Given the description of an element on the screen output the (x, y) to click on. 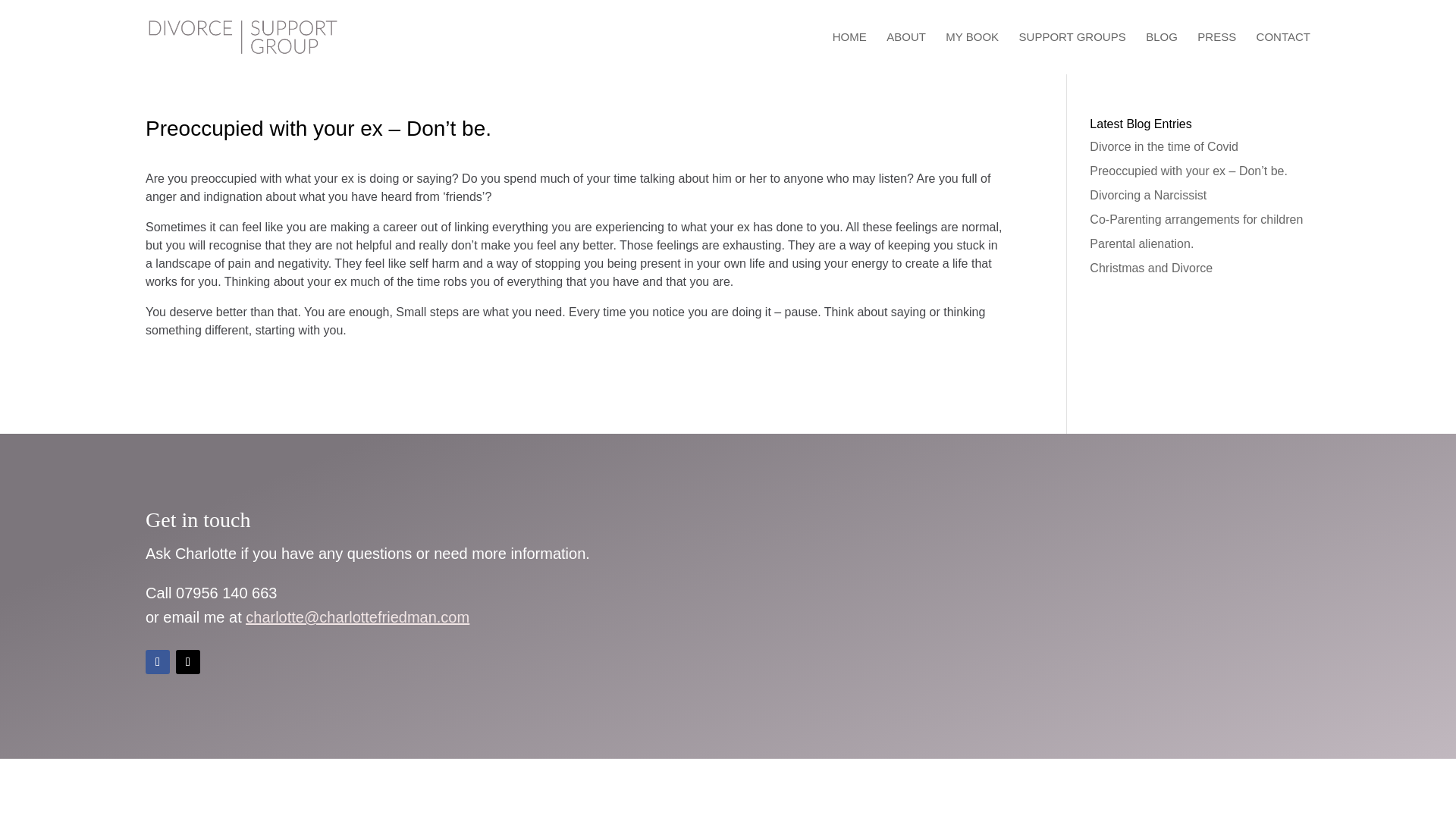
HOME (849, 52)
Christmas and Divorce (1150, 267)
Divorce in the time of Covid (1164, 146)
PRESS (1216, 52)
ABOUT (906, 52)
Follow on X (188, 662)
Co-Parenting arrangements for children (1196, 219)
SUPPORT GROUPS (1072, 52)
MY BOOK (971, 52)
Parental alienation. (1141, 243)
CONTACT (1283, 52)
BLOG (1161, 52)
Divorcing a Narcissist (1148, 195)
Follow on Facebook (157, 662)
